Given the description of an element on the screen output the (x, y) to click on. 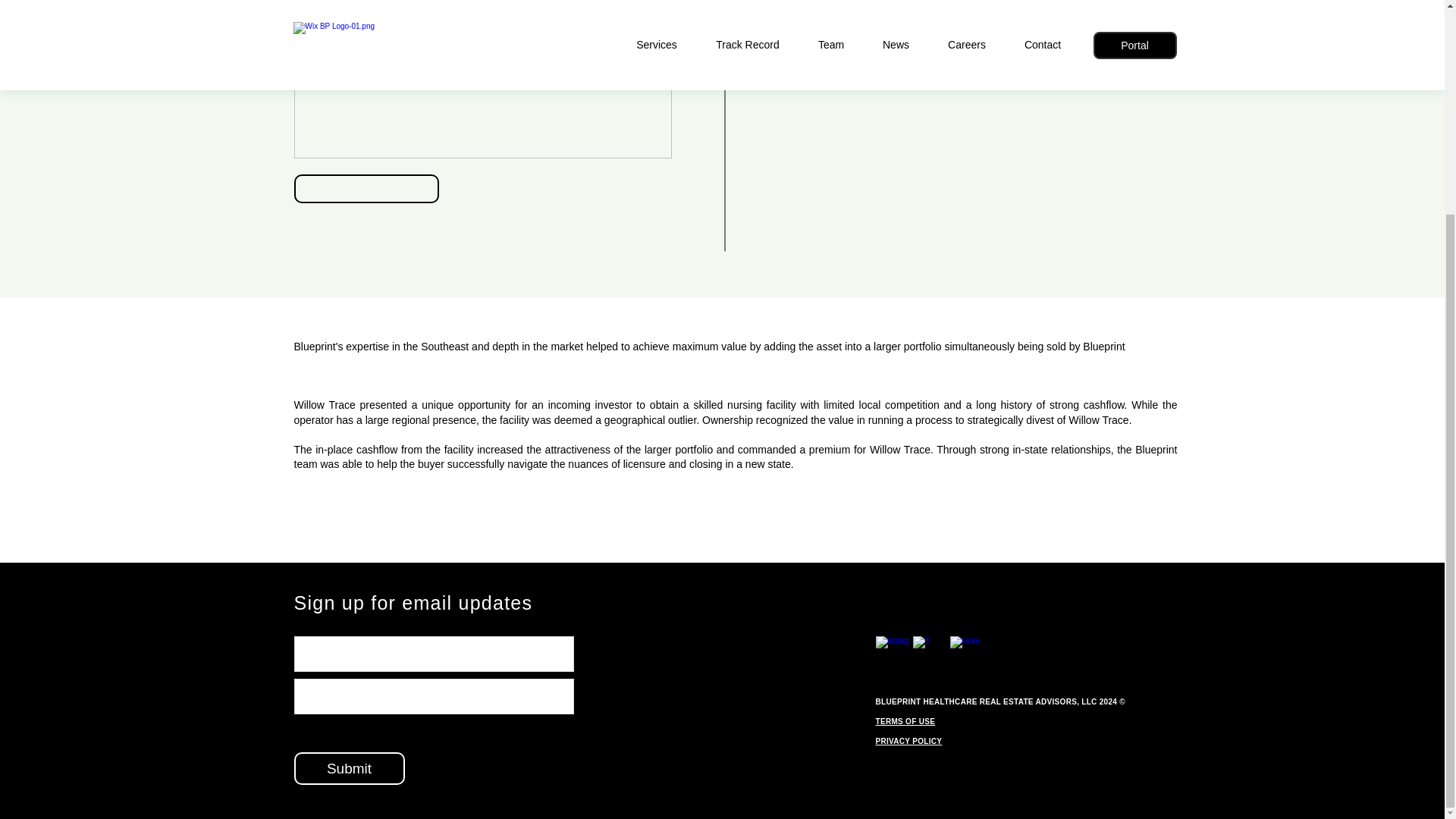
PRIVACY POLICY (908, 741)
TERMS OF USE (904, 721)
Submit (349, 768)
SEE INFO (825, 7)
